Given the description of an element on the screen output the (x, y) to click on. 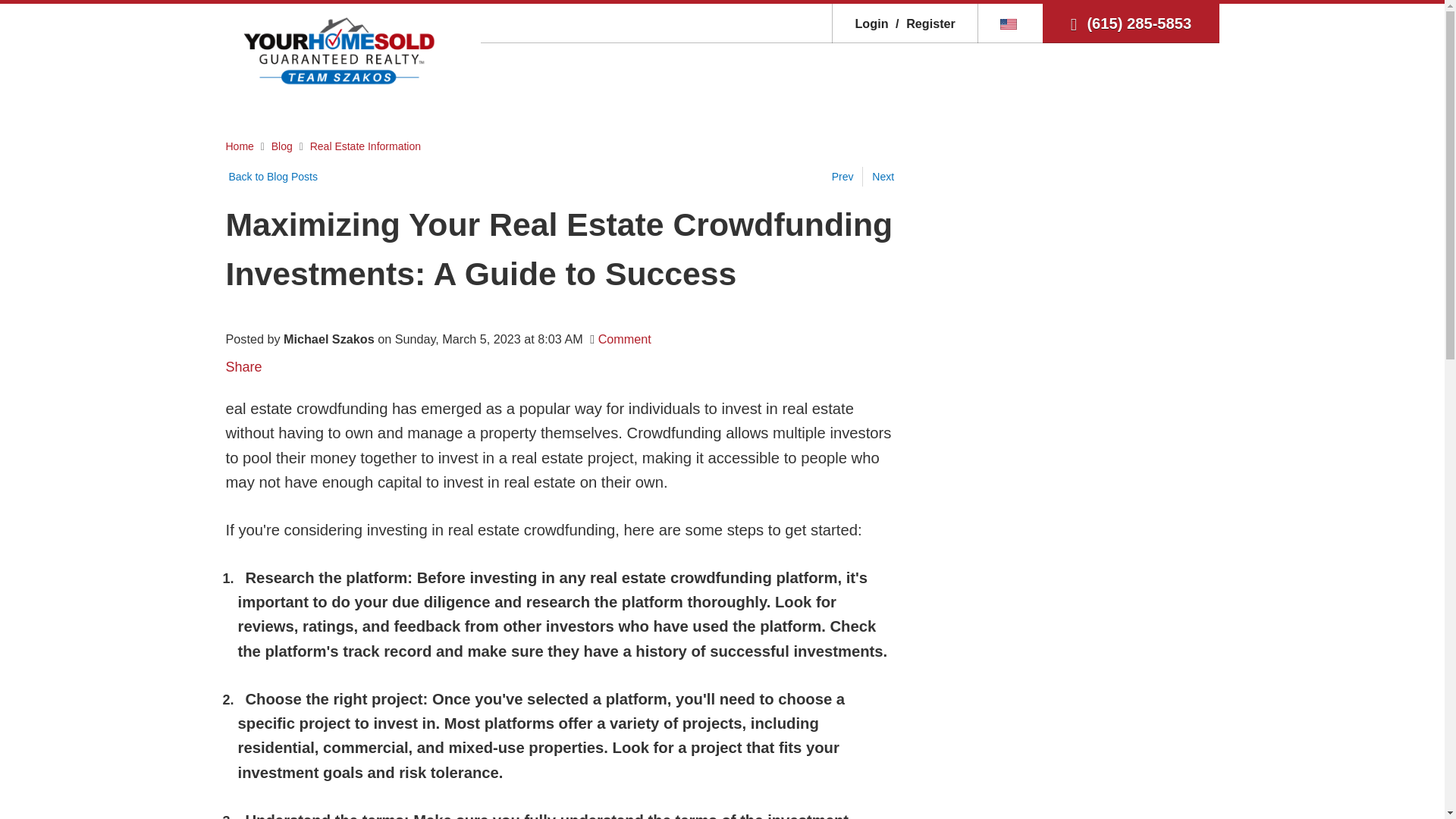
Register (923, 23)
Home Page (338, 50)
Select Language (1010, 23)
Login (871, 23)
